Given the description of an element on the screen output the (x, y) to click on. 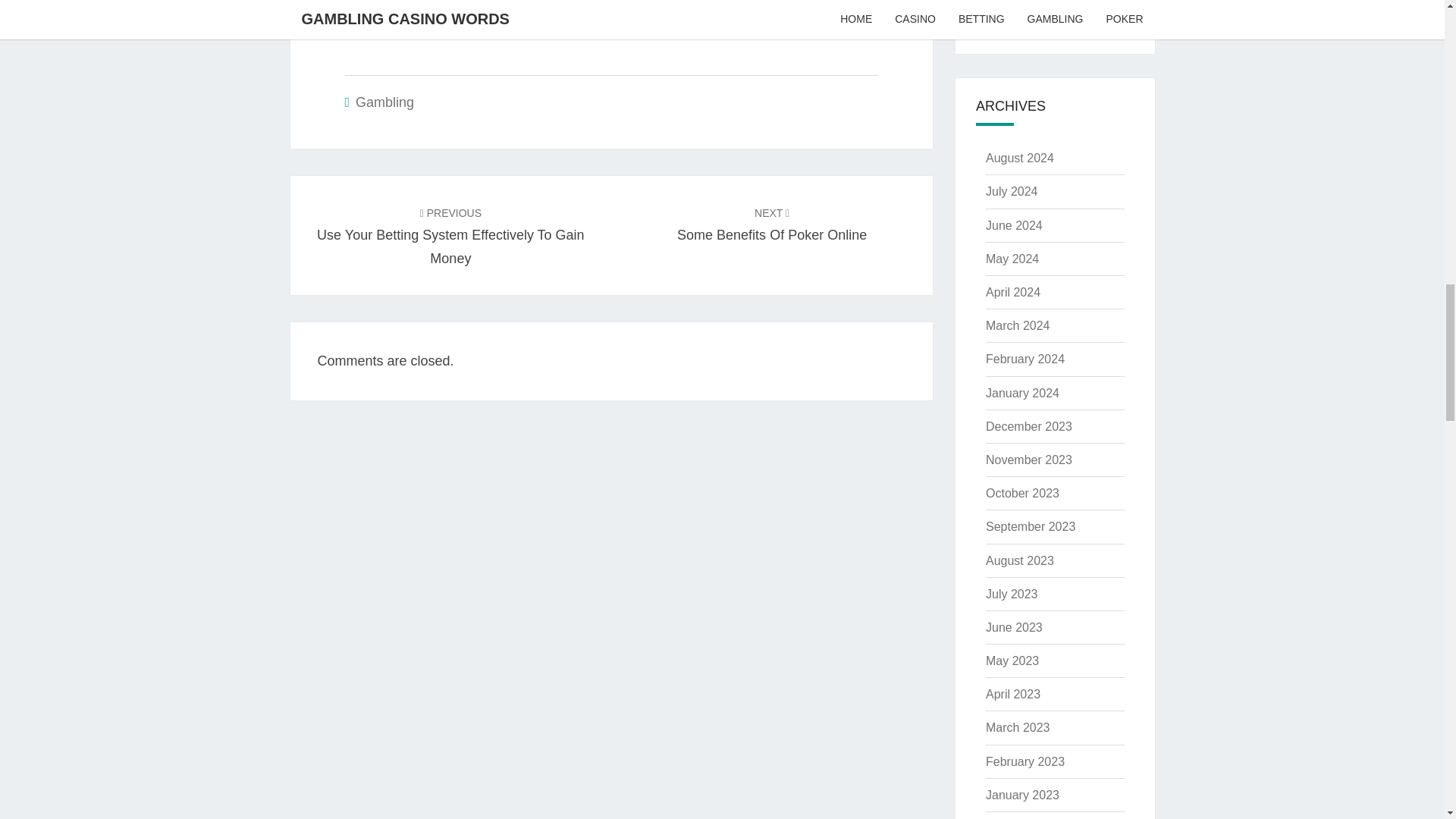
September 2023 (1030, 526)
Gambling (384, 102)
May 2024 (1012, 258)
July 2024 (1011, 191)
January 2024 (1022, 392)
July 2023 (1011, 594)
August 2024 (1019, 157)
December 2023 (1028, 426)
October 2023 (1022, 492)
May 2023 (1012, 660)
